Given the description of an element on the screen output the (x, y) to click on. 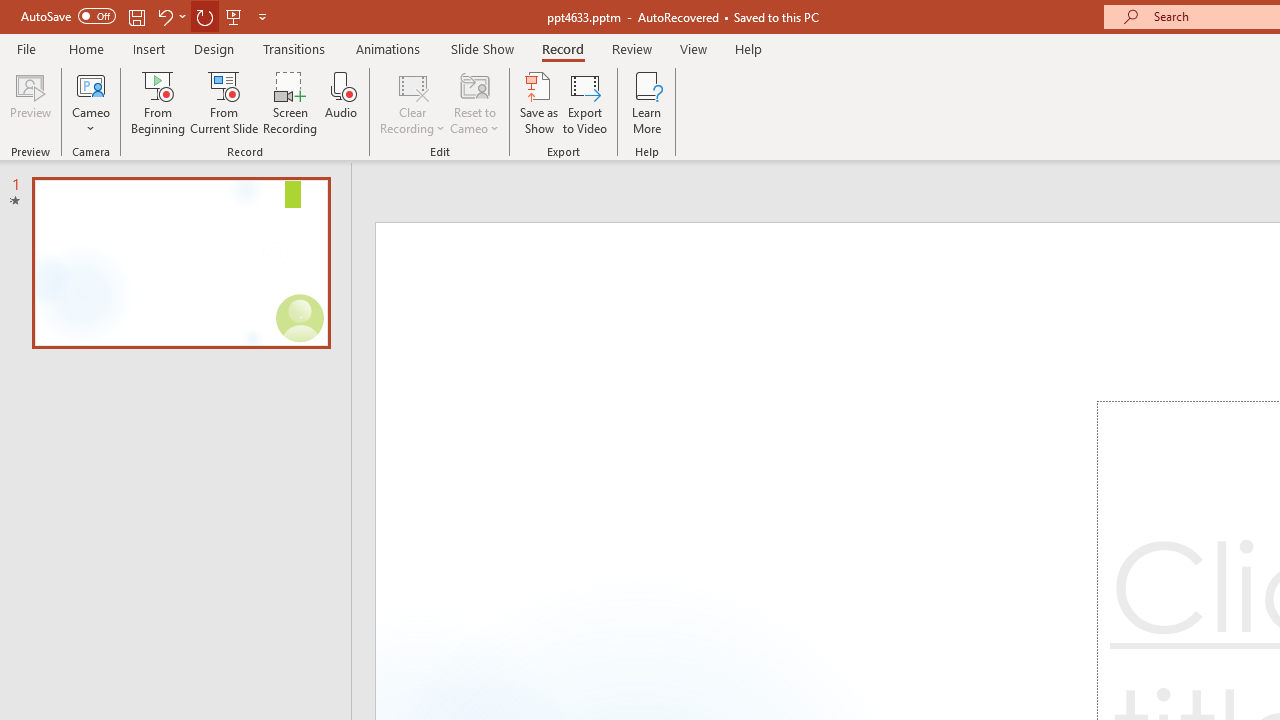
File Tab (26, 48)
Undo (164, 15)
Save (136, 15)
Record (562, 48)
Preview (30, 102)
